Given the description of an element on the screen output the (x, y) to click on. 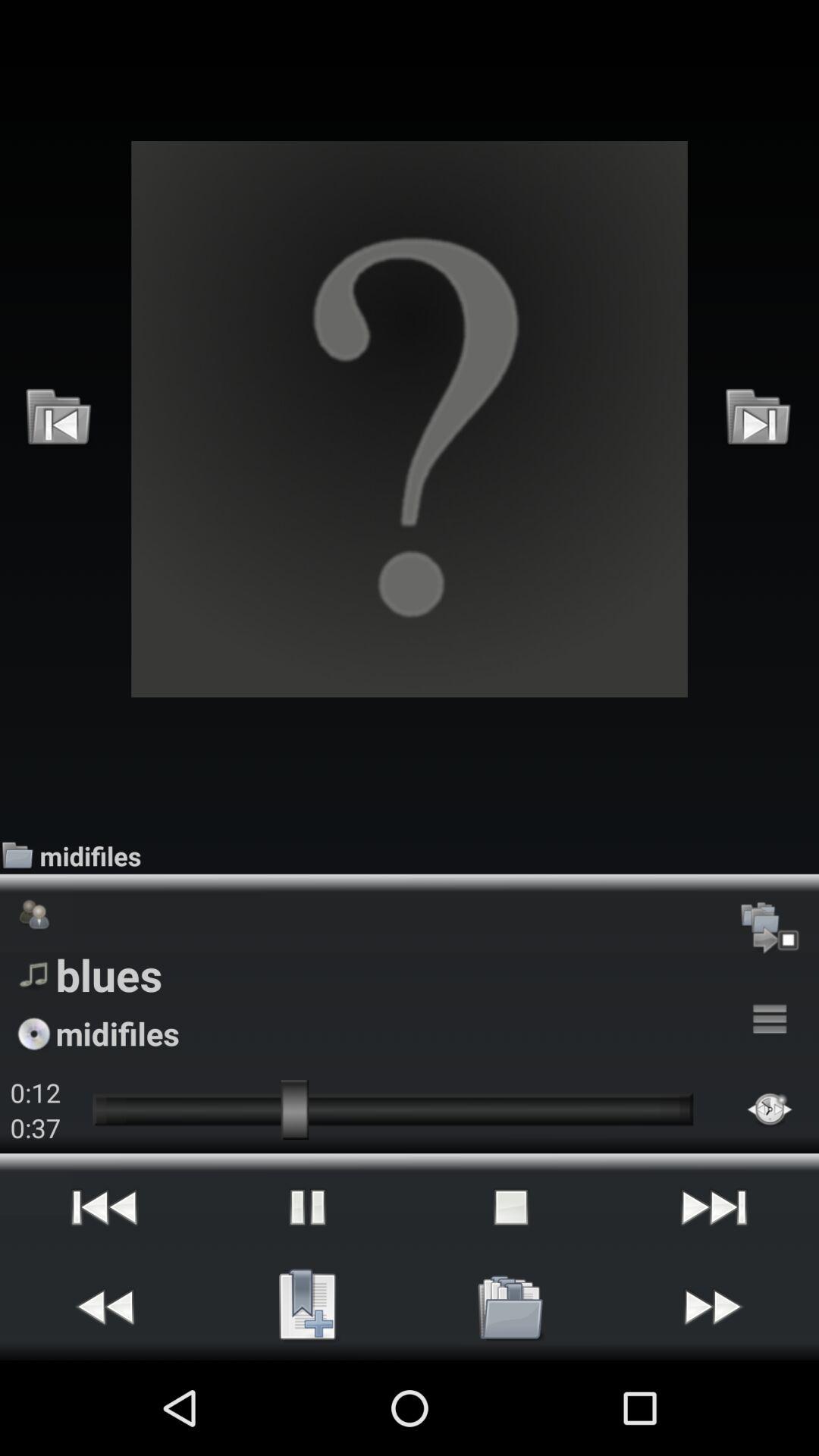
choose icon to the right of the blues icon (770, 1019)
